Given the description of an element on the screen output the (x, y) to click on. 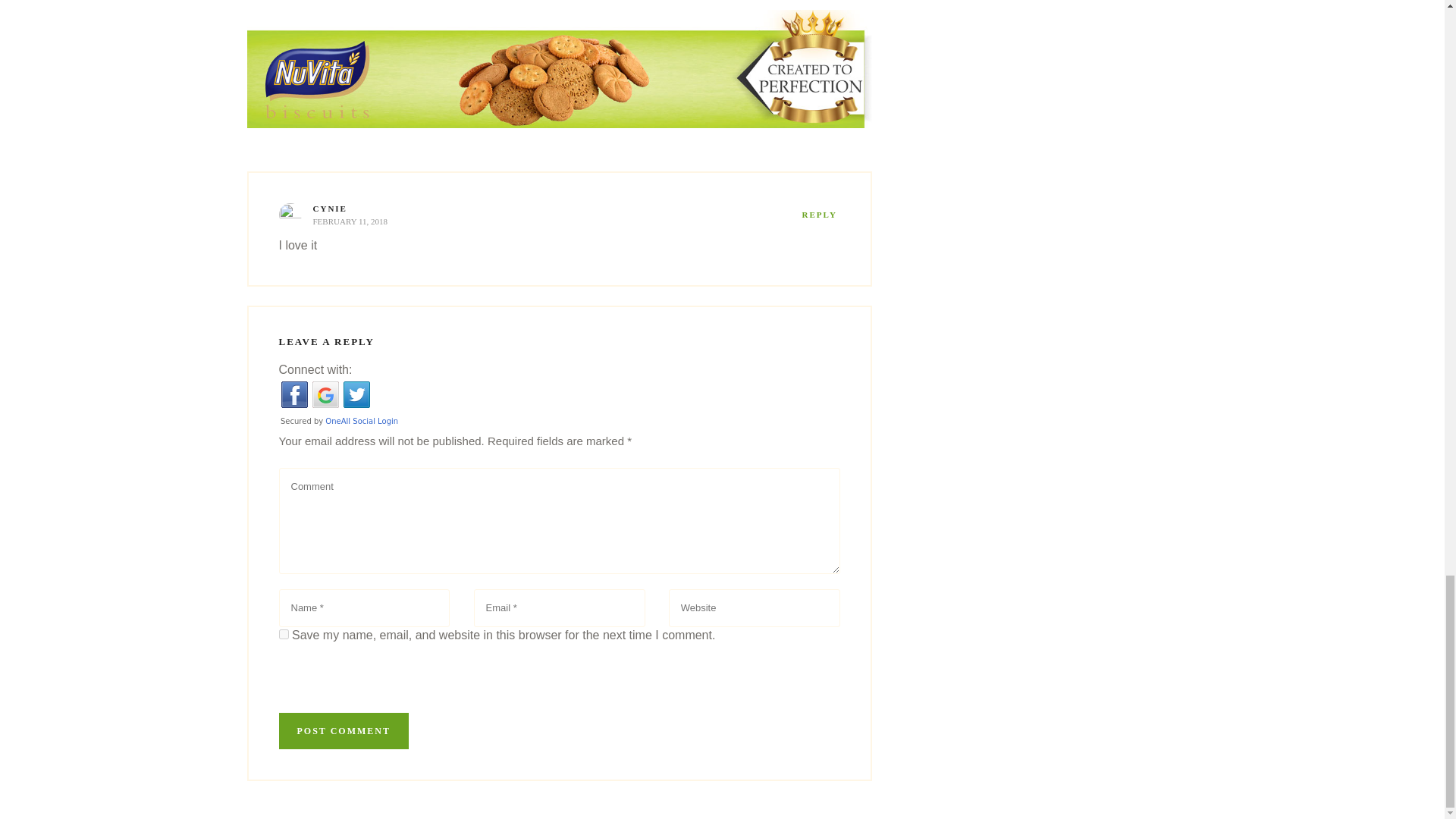
Login with Social Networks (559, 404)
Post Comment (344, 730)
yes (283, 634)
